Given the description of an element on the screen output the (x, y) to click on. 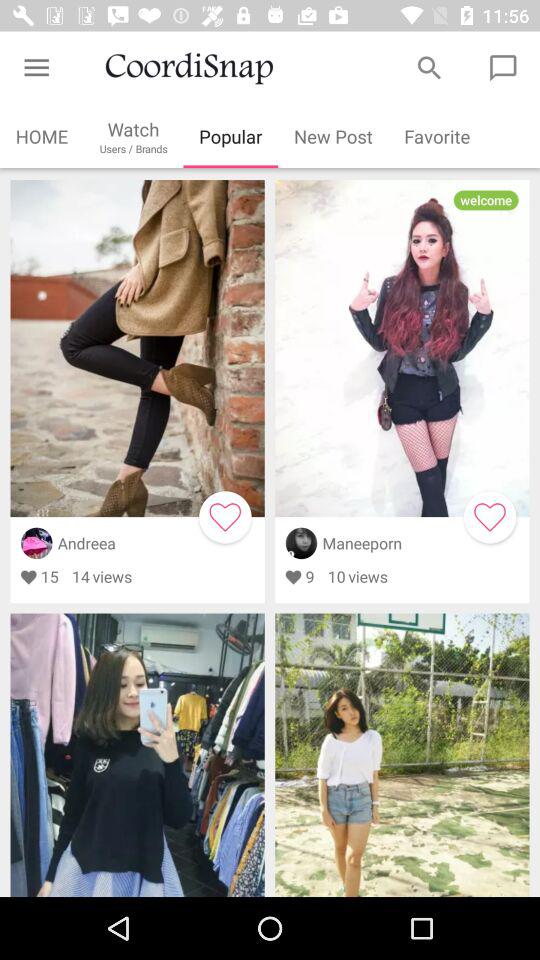
favorite one (225, 517)
